Given the description of an element on the screen output the (x, y) to click on. 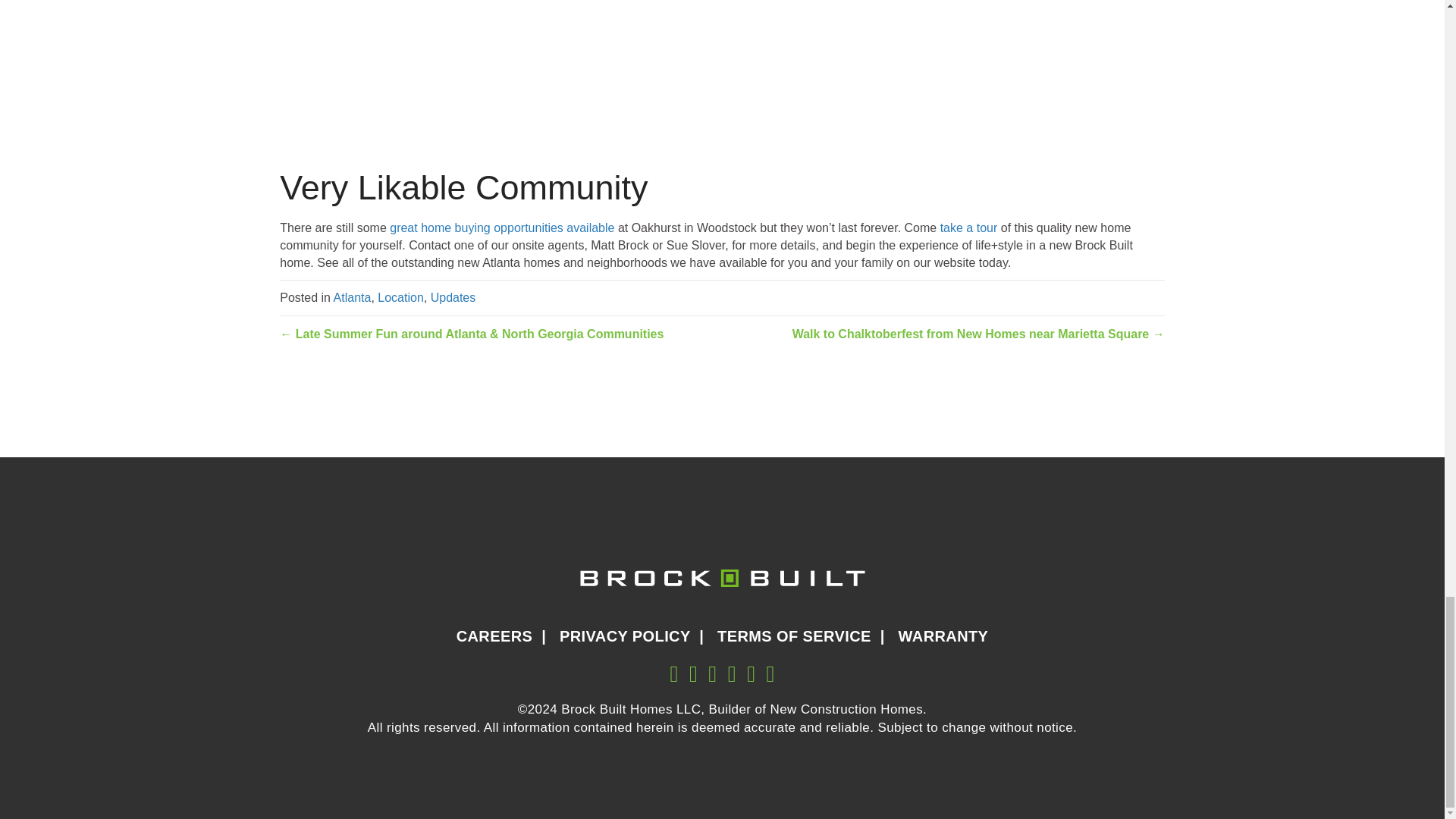
Current homes available at Oakhurst in Woodstock GA (502, 227)
oakhurst community street in woodstock ga (721, 74)
Video tour of Oakhurst - "Come Home" (968, 227)
